Given the description of an element on the screen output the (x, y) to click on. 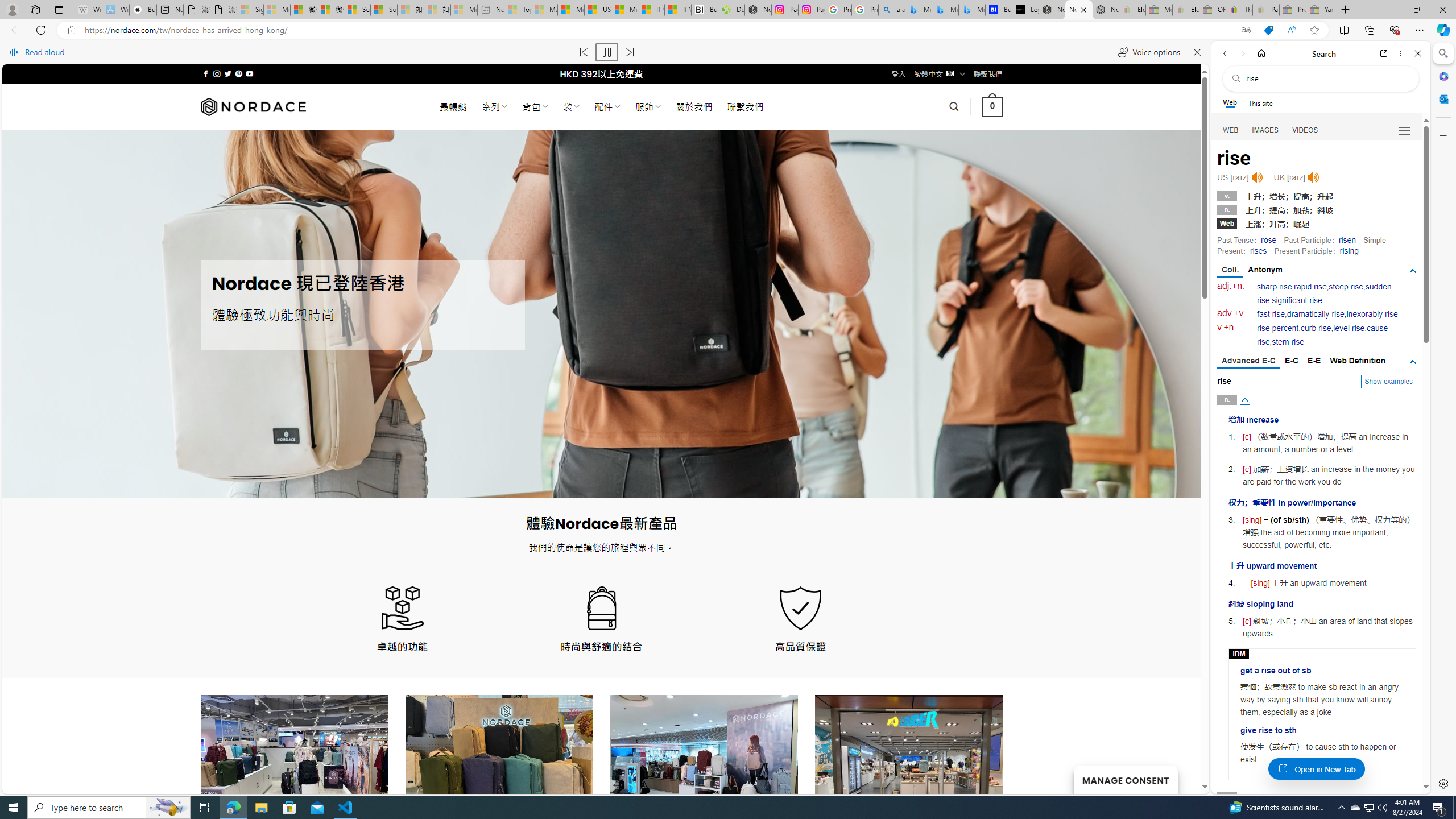
sharp rise (1274, 286)
Press Room - eBay Inc. - Sleeping (1292, 9)
Voice options (1149, 52)
Coll. (1230, 270)
rapid rise (1310, 286)
sudden rise (1323, 293)
